Given the description of an element on the screen output the (x, y) to click on. 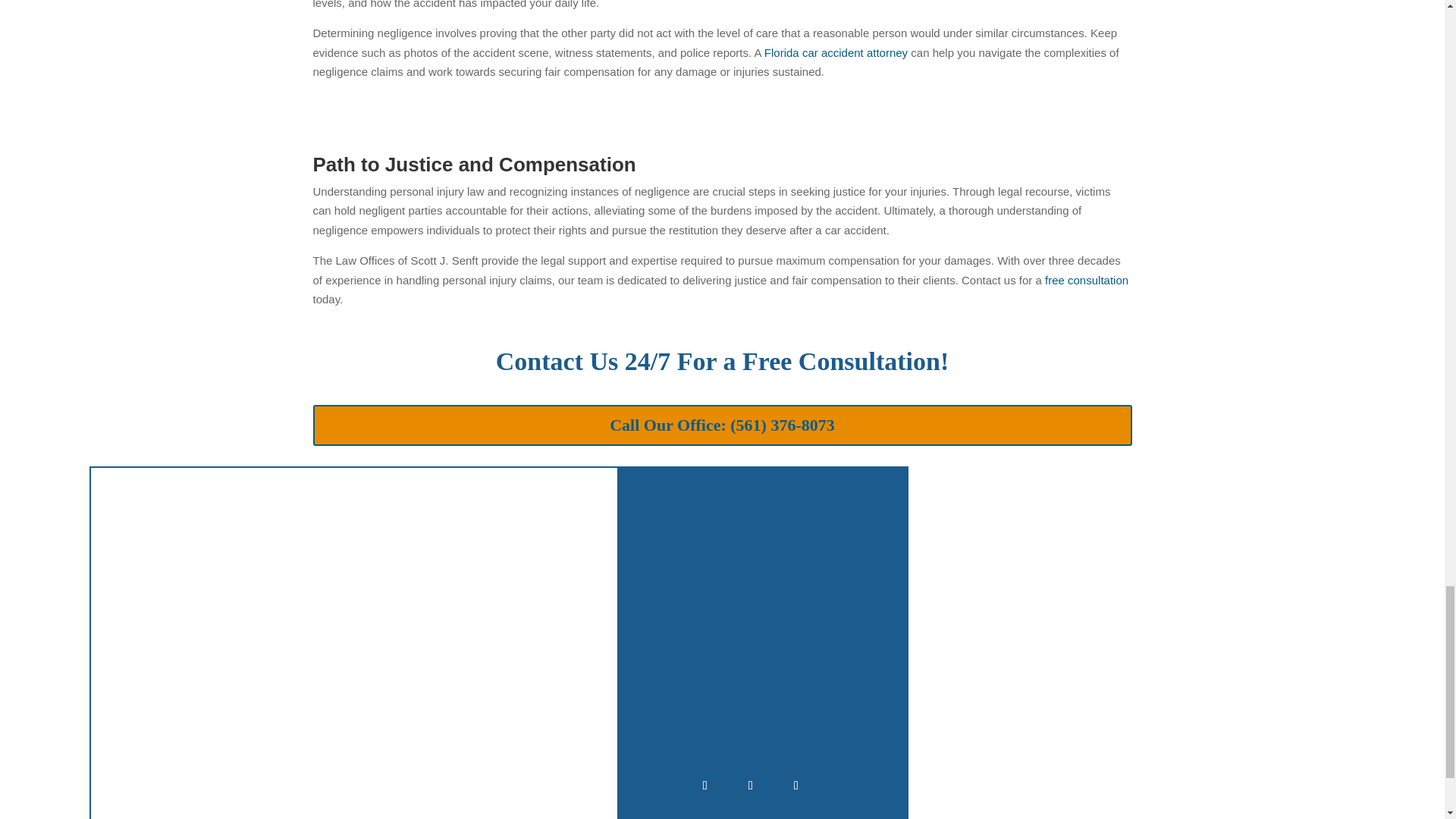
Follow on LinkedIn (795, 785)
Follow on X (750, 785)
Follow on Facebook (705, 785)
